Given the description of an element on the screen output the (x, y) to click on. 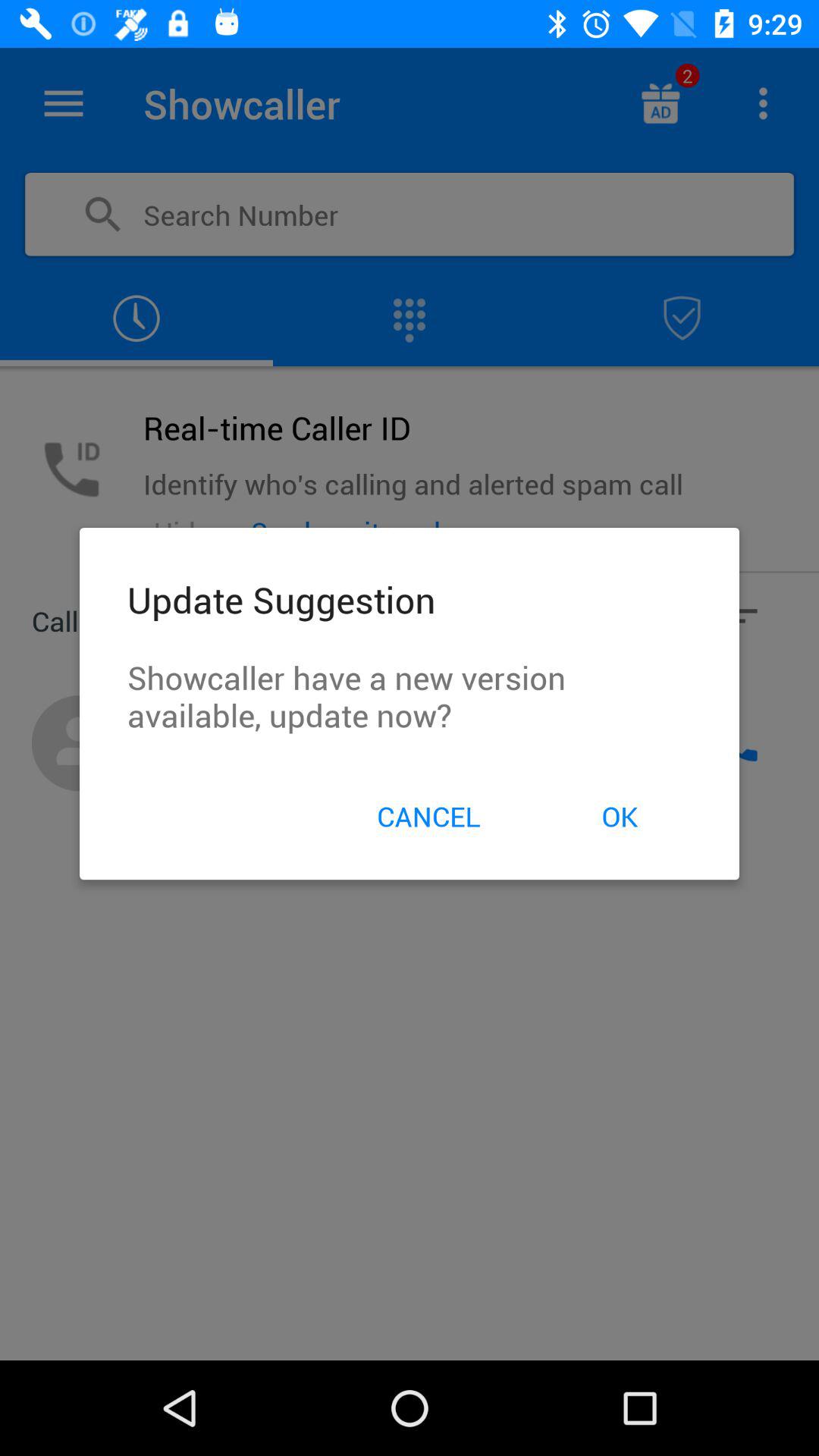
choose item on the right (619, 815)
